Given the description of an element on the screen output the (x, y) to click on. 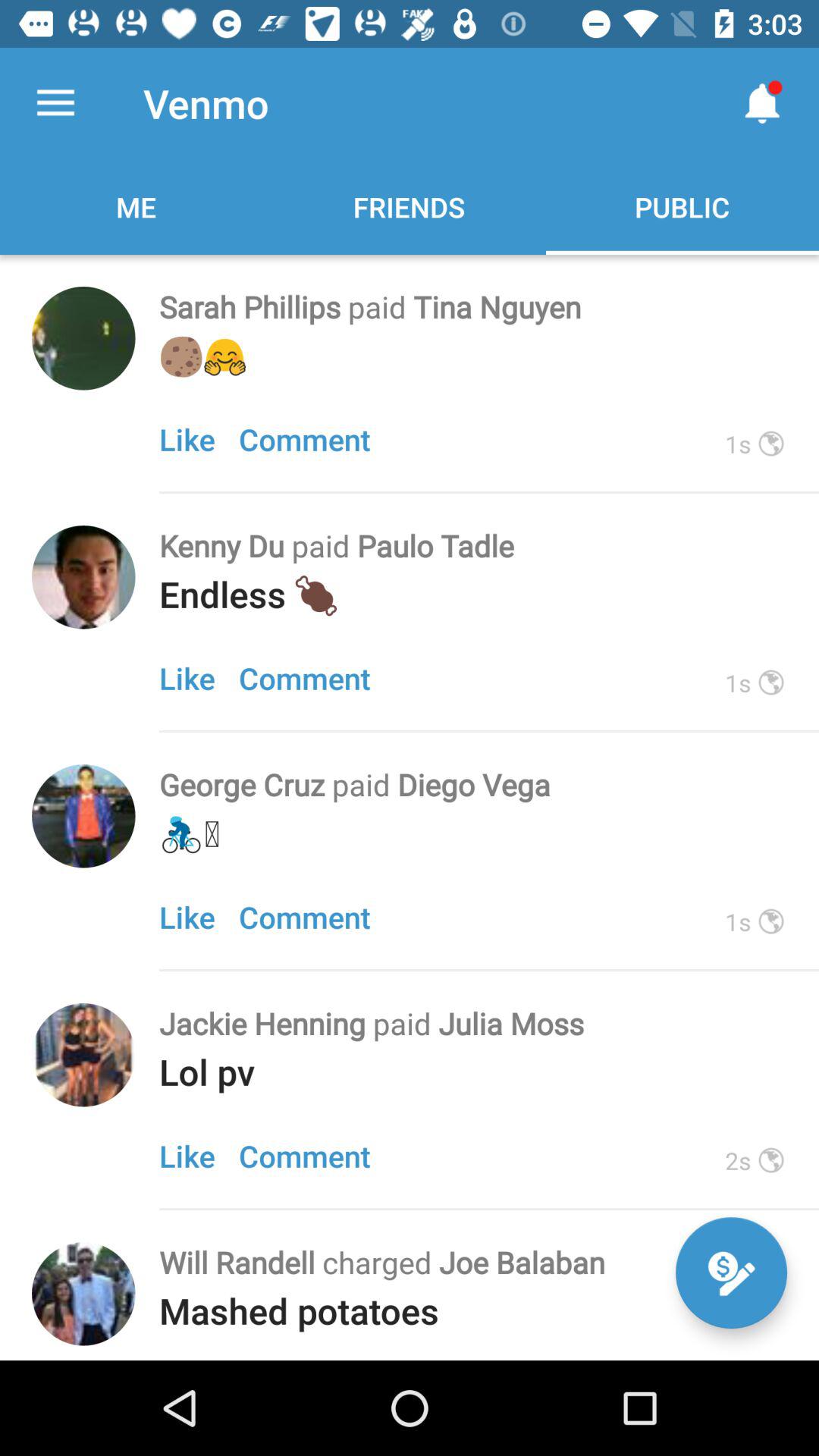
person avatar (83, 1293)
